Given the description of an element on the screen output the (x, y) to click on. 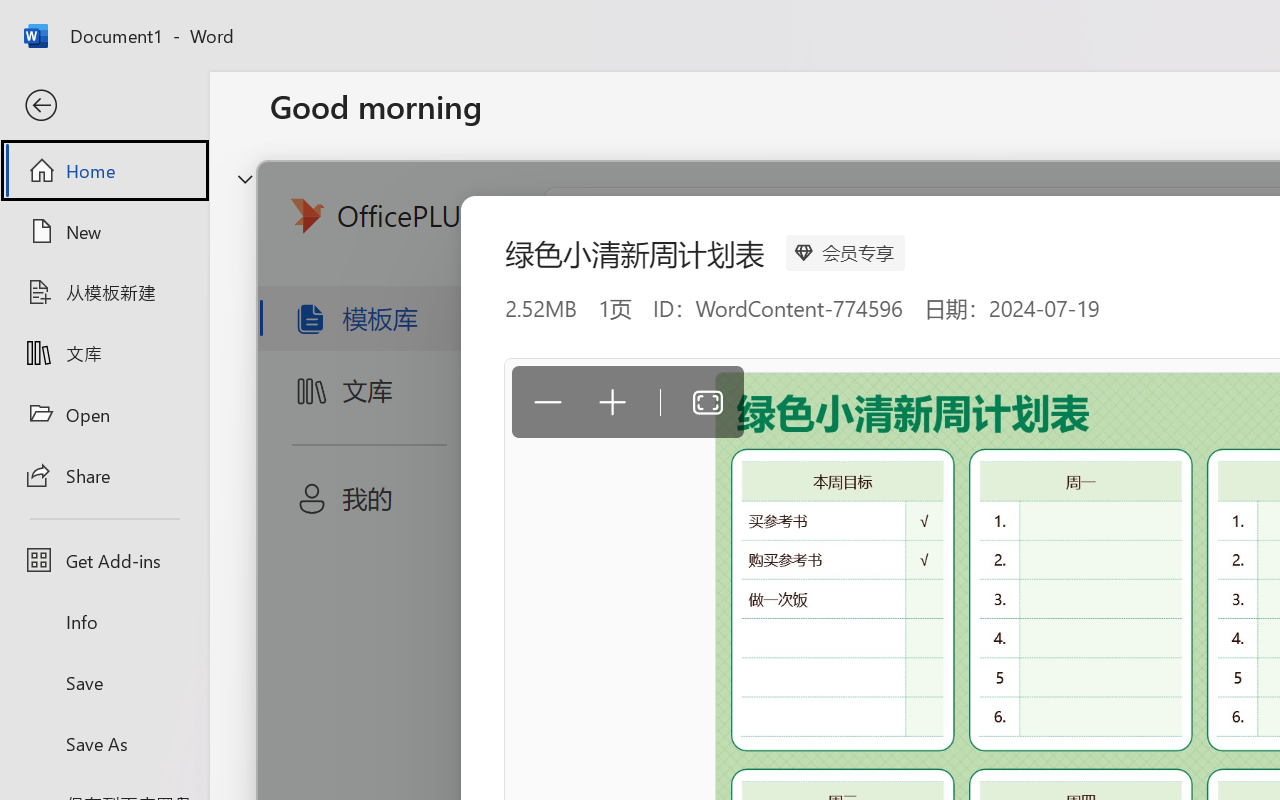
More actions for Chrome Web Store shortcut (1208, 518)
Sign in - Google Accounts (823, 22)
New Tab (299, 22)
